Given the description of an element on the screen output the (x, y) to click on. 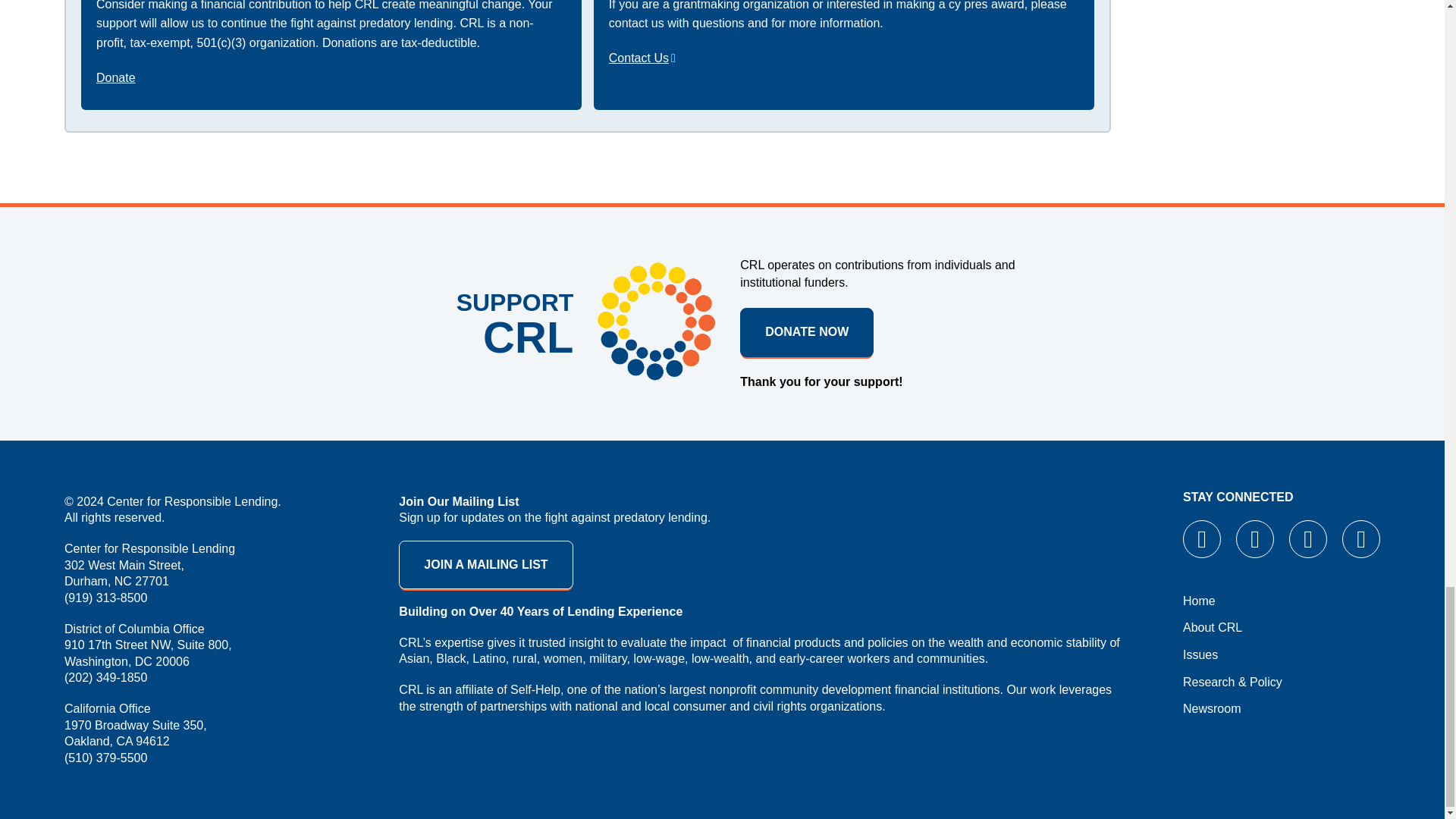
Donate (806, 331)
Donate (115, 77)
